Given the description of an element on the screen output the (x, y) to click on. 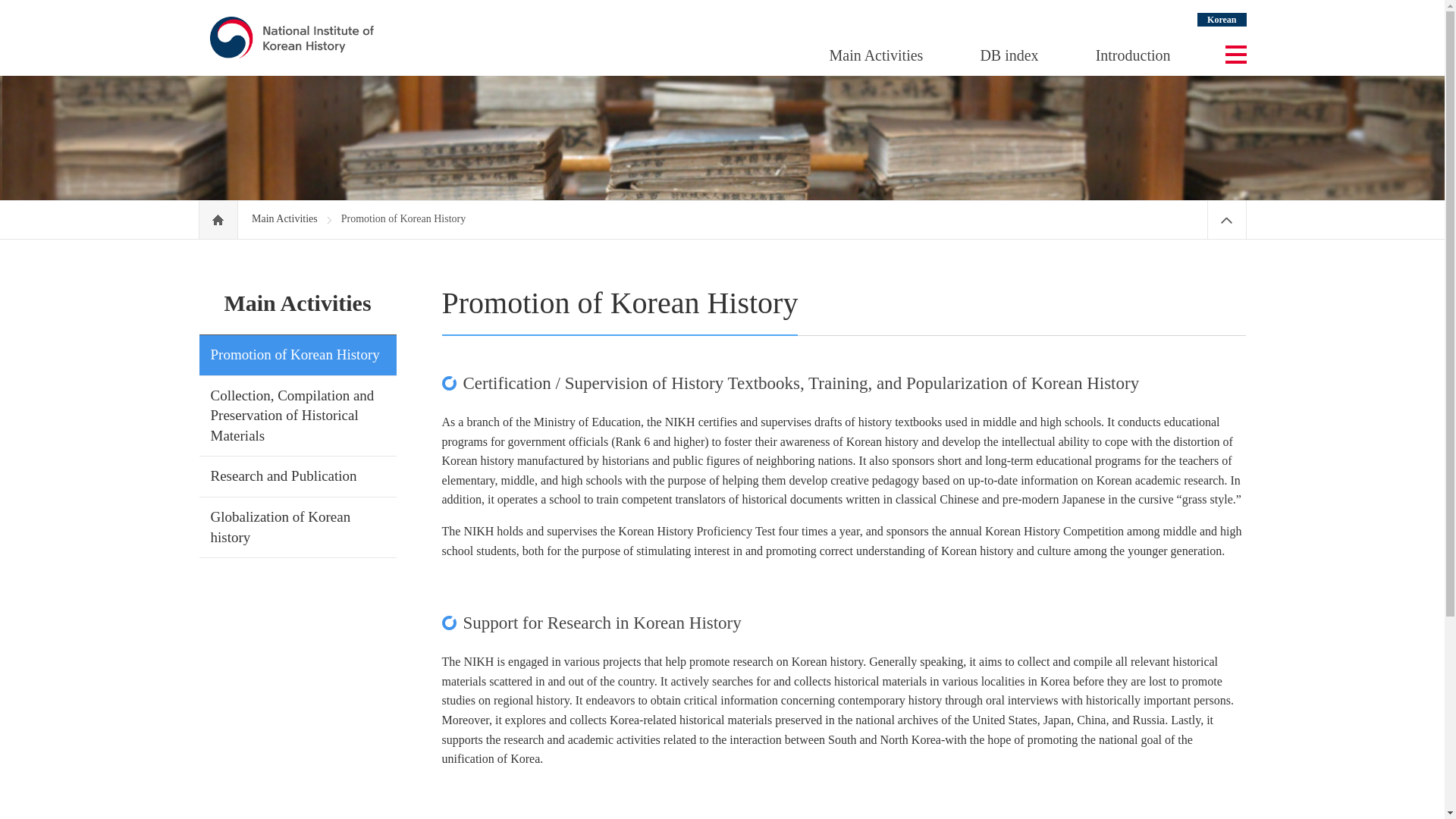
Research and Publication (283, 475)
DB index (1008, 54)
Korean (1221, 19)
Open Menu (1235, 54)
Main Activities (876, 54)
Introduction (1133, 54)
Promotion of Korean History (295, 354)
National Institute Of Korea History (290, 37)
Globalization of Korean history (280, 526)
Main Activities (285, 218)
